Given the description of an element on the screen output the (x, y) to click on. 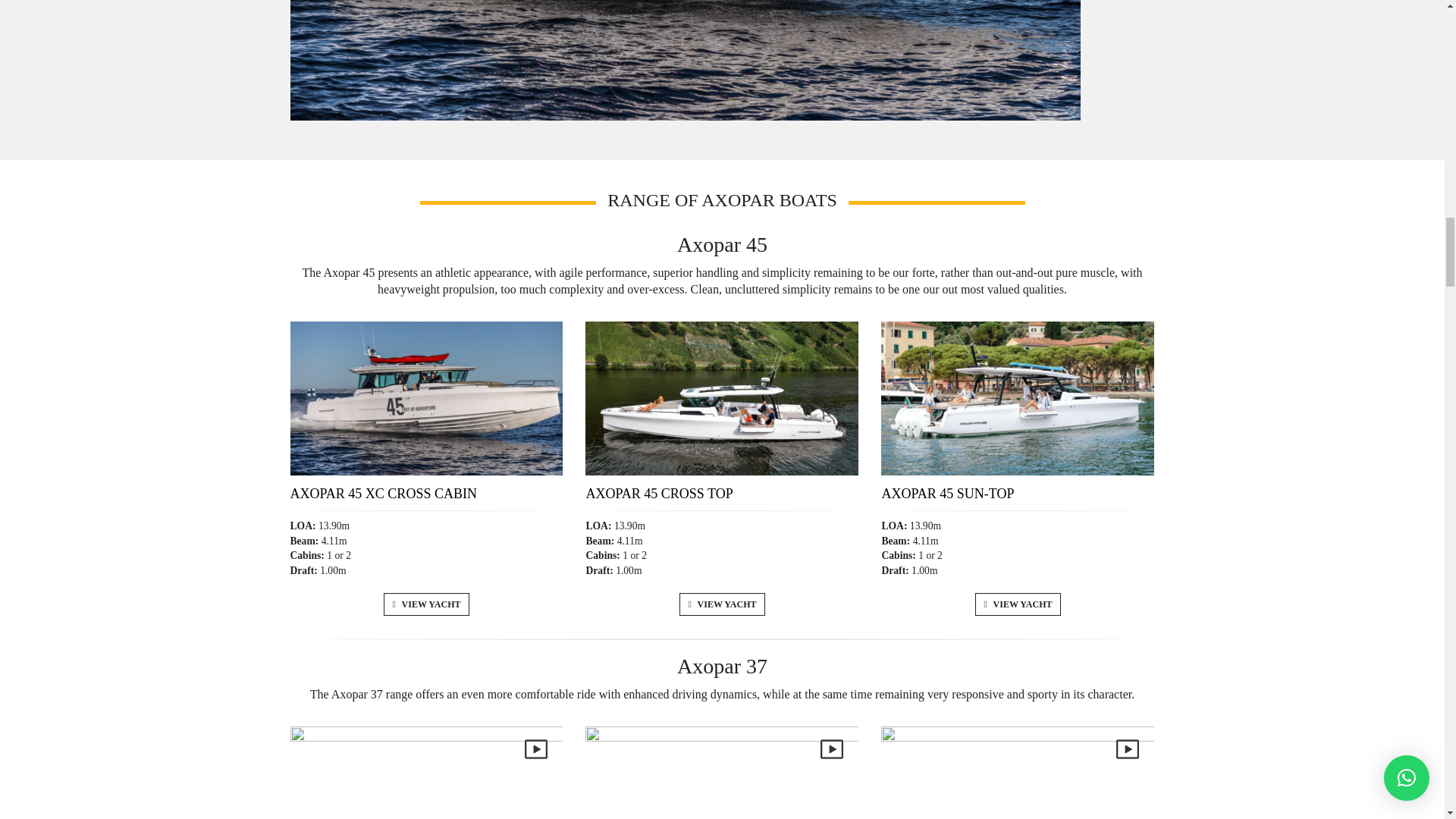
Watch Video (832, 748)
Watch Video (535, 748)
Watch Video (1127, 748)
